Given the description of an element on the screen output the (x, y) to click on. 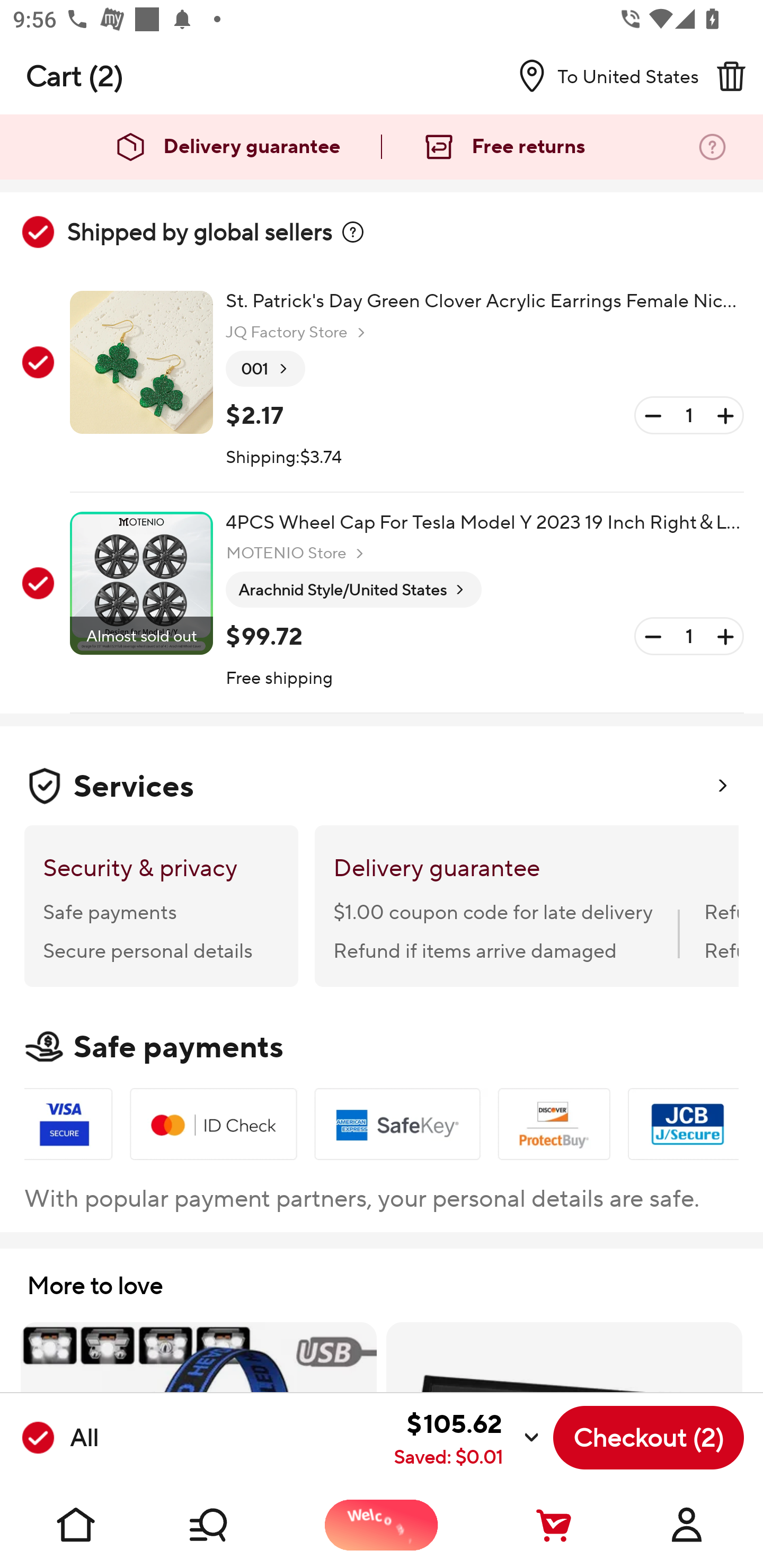
 To United States (601, 75)
 (730, 75)
 (352, 231)
JQ Factory Store (297, 333)
001 (265, 369)
1 (688, 415)
MOTENIO Store (296, 553)
Arachnid Style/United States (353, 590)
1 (688, 636)
$_105.62 Saved: $0.01  (324, 1437)
Checkout (2) (648, 1437)
Home (76, 1524)
Shop (228, 1524)
Account (686, 1524)
